Given the description of an element on the screen output the (x, y) to click on. 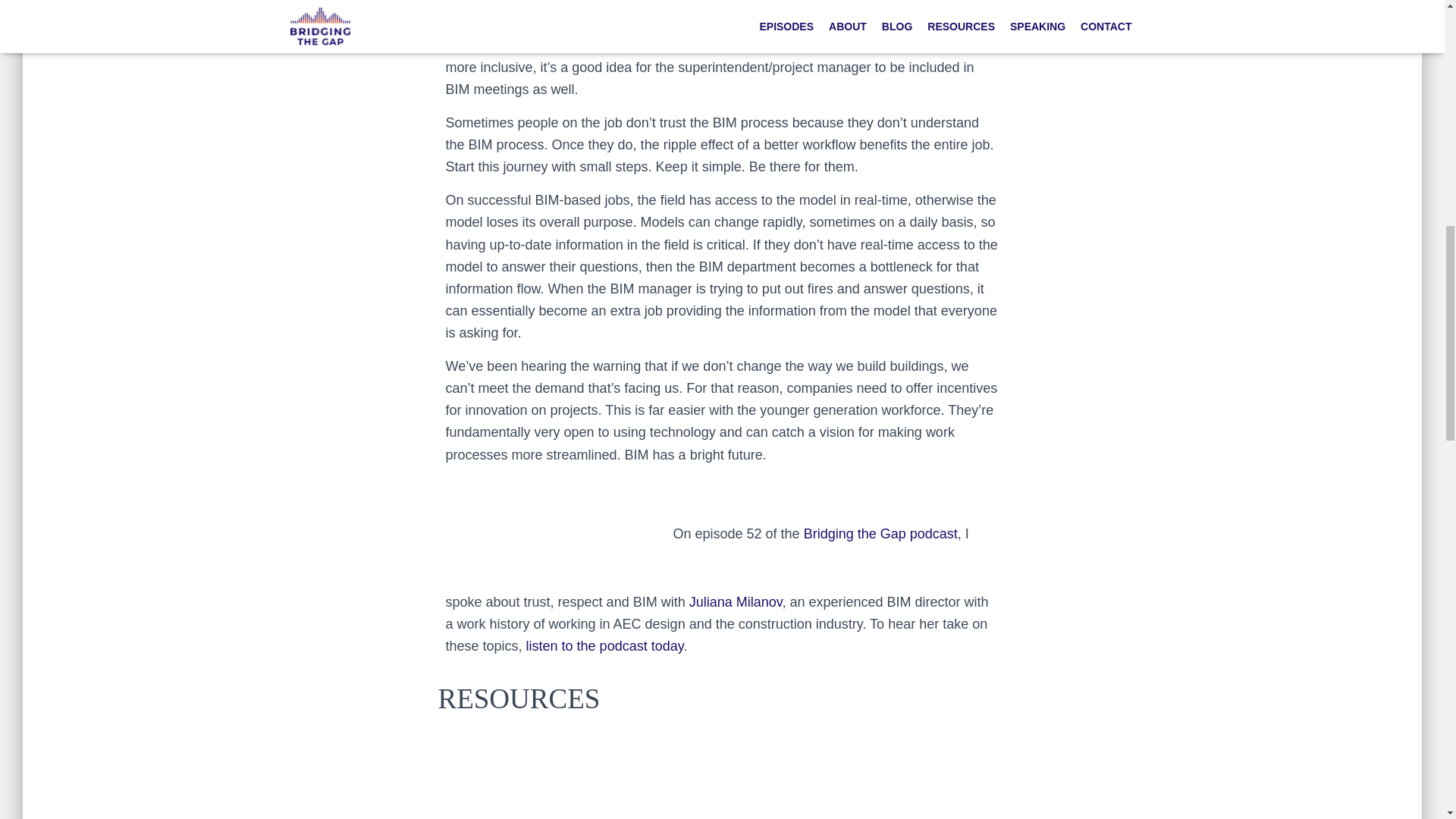
Bridging the Gap podcast (878, 532)
listen to the podcast today (604, 645)
Juliana Milanov (735, 601)
